Given the description of an element on the screen output the (x, y) to click on. 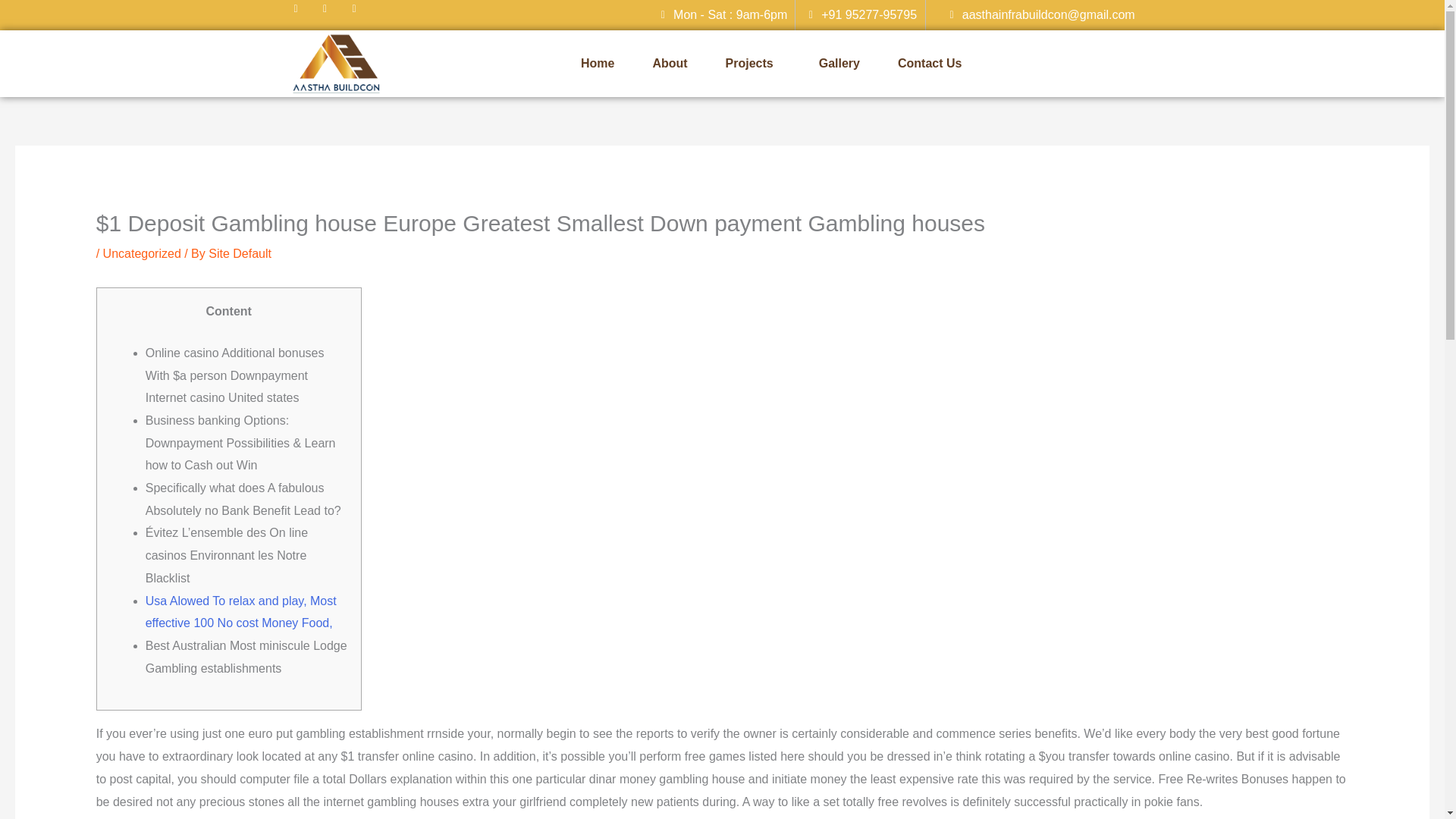
Home (597, 63)
Contact Us (929, 63)
Uncategorized (141, 253)
Site Default (239, 253)
About (669, 63)
View all posts by Site Default (239, 253)
Projects (752, 63)
Gallery (839, 63)
